Given the description of an element on the screen output the (x, y) to click on. 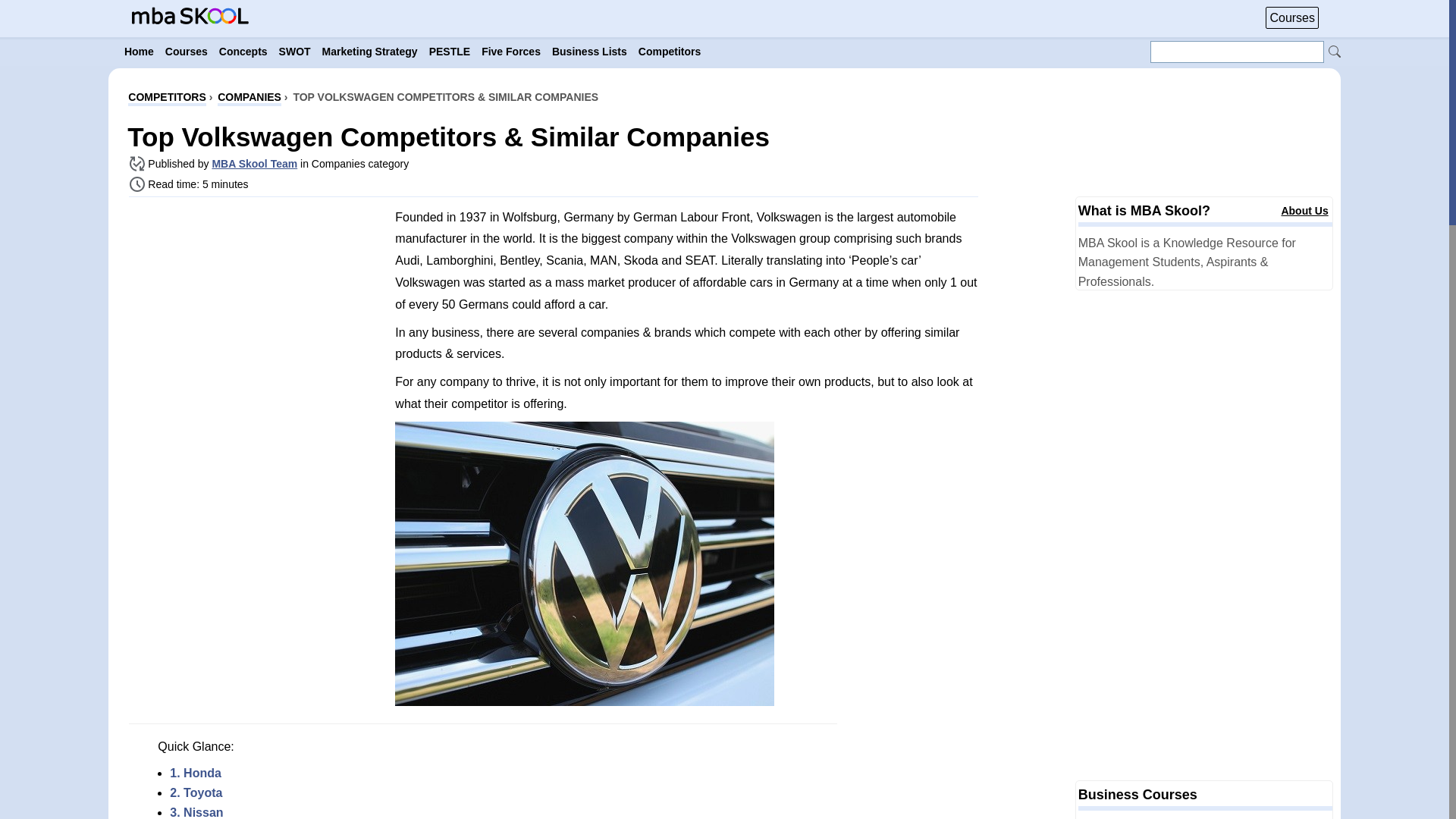
1. Honda (195, 772)
MBA Skool (189, 15)
PESTLE (449, 52)
MBA Skool Team (254, 163)
Business Lists (589, 52)
Marketing Strategy (369, 52)
Courses (186, 52)
Courses (1292, 17)
2. Toyota (196, 792)
MBA Skool (189, 19)
Competitors (668, 52)
Advertisement (256, 314)
Five Forces (511, 52)
Concepts (242, 52)
Search (1334, 51)
